Given the description of an element on the screen output the (x, y) to click on. 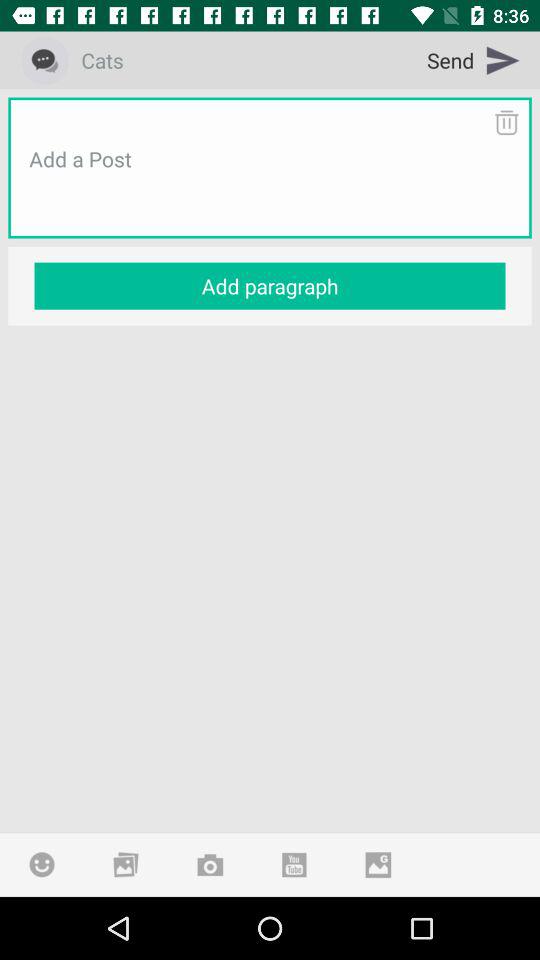
tap the icon to the right of cats item (474, 60)
